Given the description of an element on the screen output the (x, y) to click on. 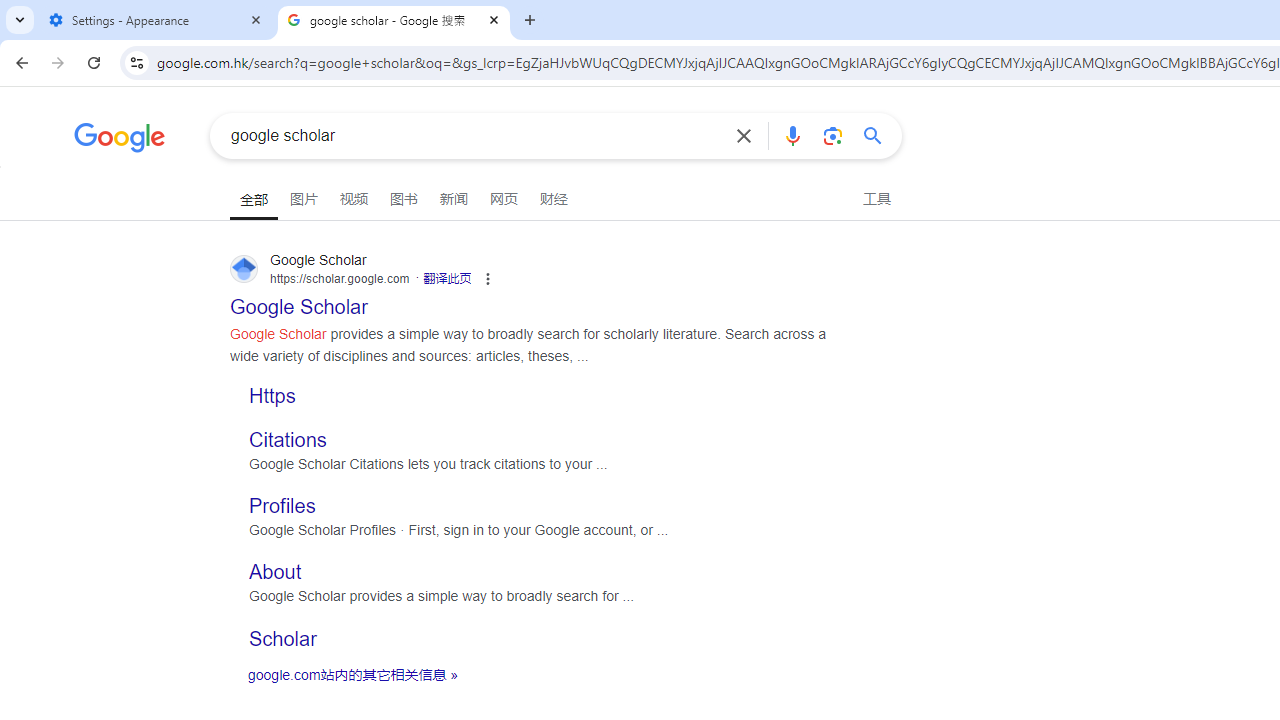
Scholar (538, 637)
Https (538, 392)
Citations (287, 438)
Google (120, 139)
 Google Scholar Google Scholar https://scholar.google.com (299, 300)
